Given the description of an element on the screen output the (x, y) to click on. 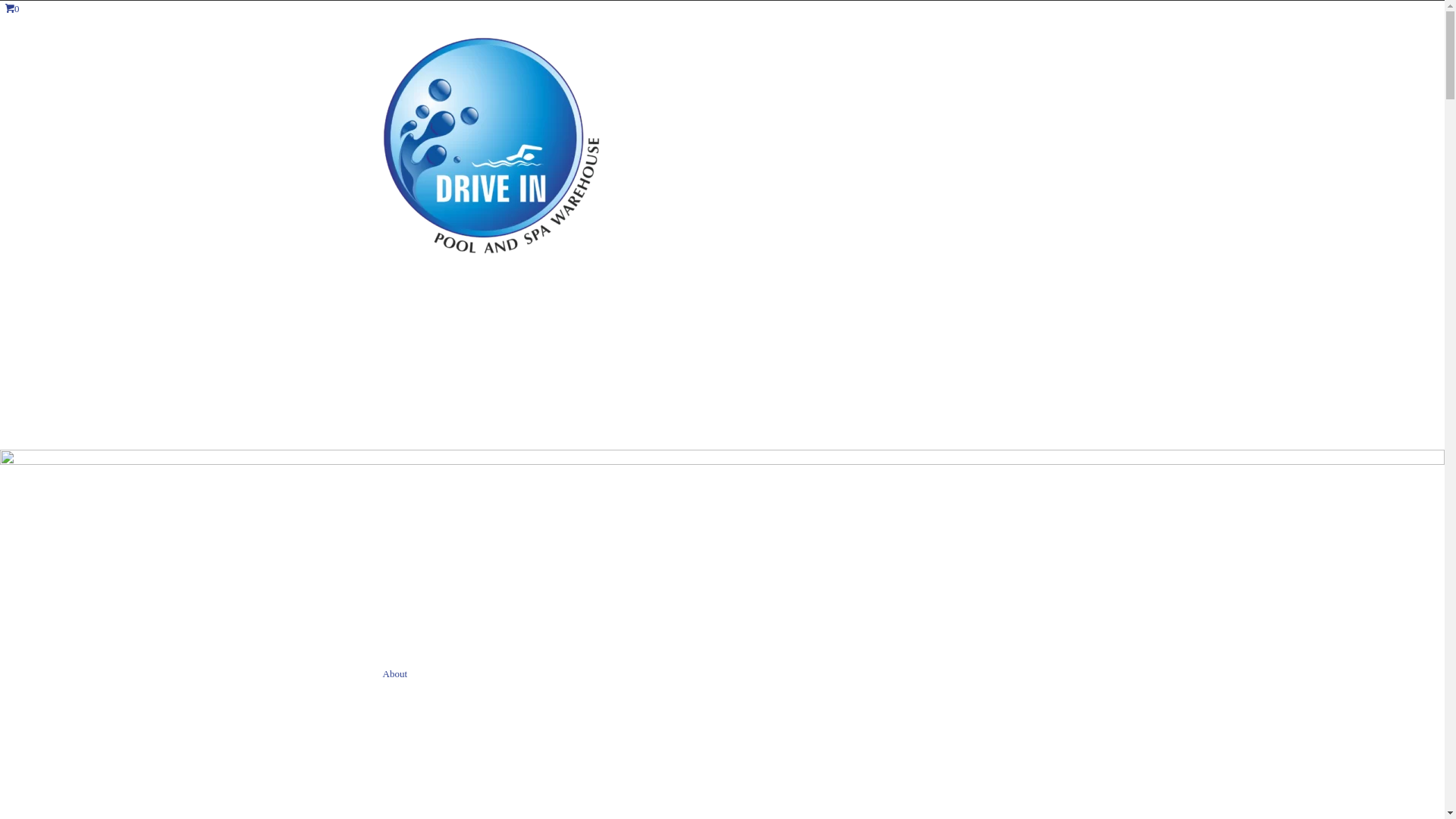
Drive in Pool and Spa Warehouse logo Element type: hover (491, 145)
0 Element type: text (12, 8)
About Element type: text (394, 673)
